Given the description of an element on the screen output the (x, y) to click on. 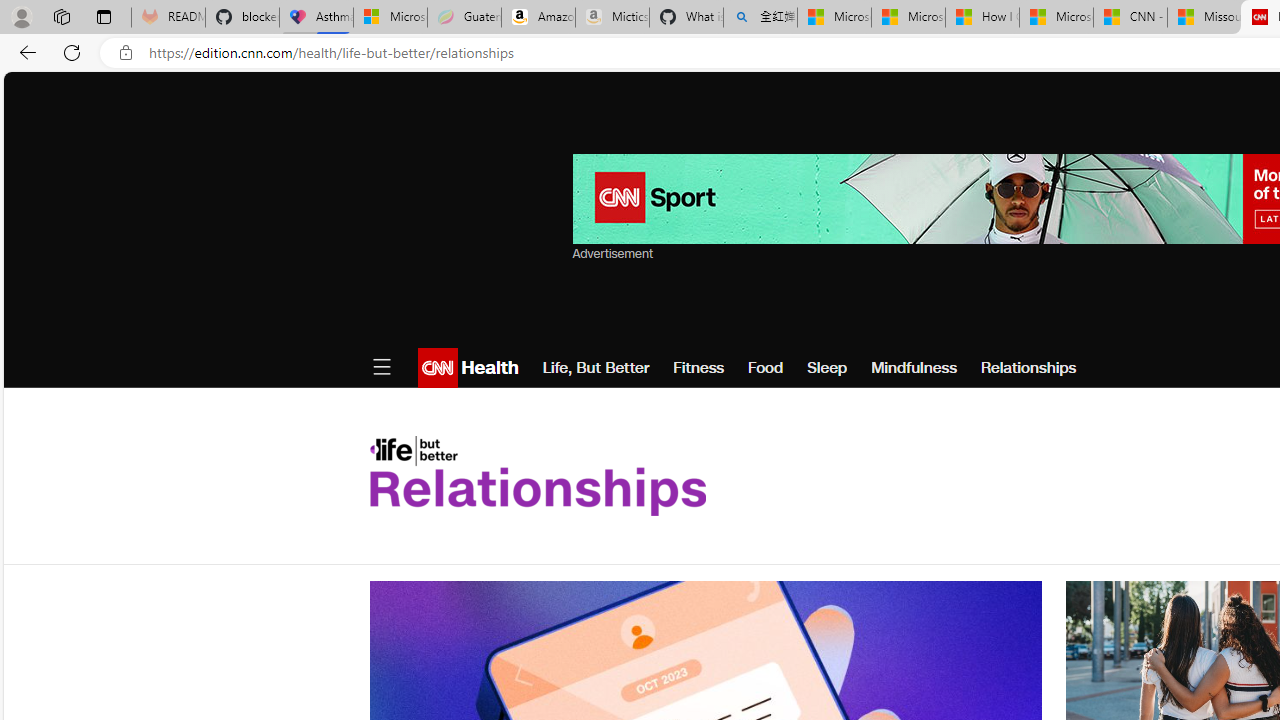
Open Menu Icon (381, 367)
Health (487, 367)
Asthma Inhalers: Names and Types (316, 17)
CNN - MSN (1130, 17)
Relationships (1028, 367)
Life, But Better - Relationships (537, 476)
Life, But Better (595, 367)
Mindfulness (913, 367)
